Given the description of an element on the screen output the (x, y) to click on. 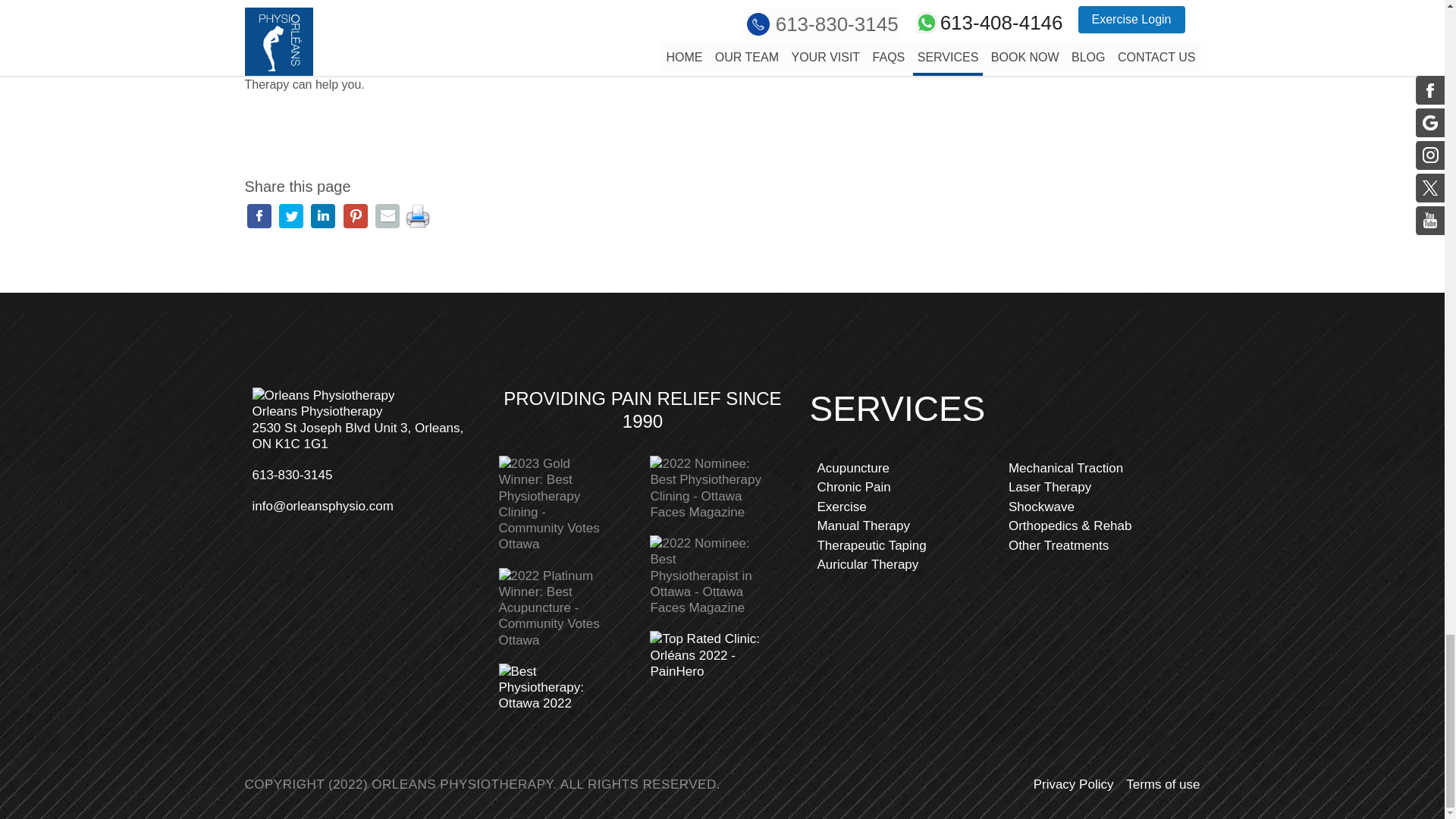
Orleans Physiotherapy in Orleans and Ottawa (646, 29)
Print page content (417, 215)
